Given the description of an element on the screen output the (x, y) to click on. 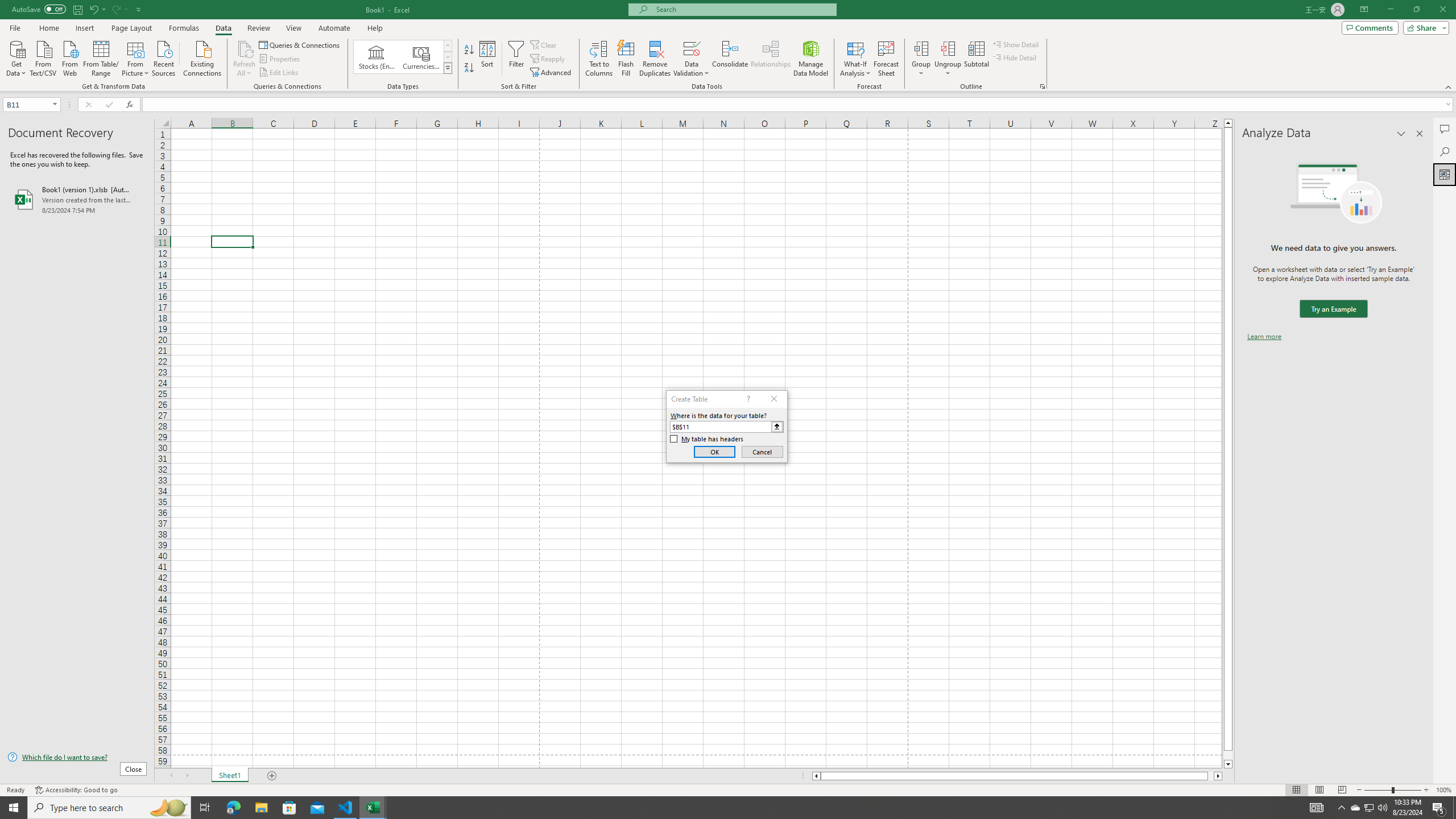
From Text/CSV (43, 57)
Text to Columns... (598, 58)
From Web (69, 57)
Learn more (1264, 336)
